Given the description of an element on the screen output the (x, y) to click on. 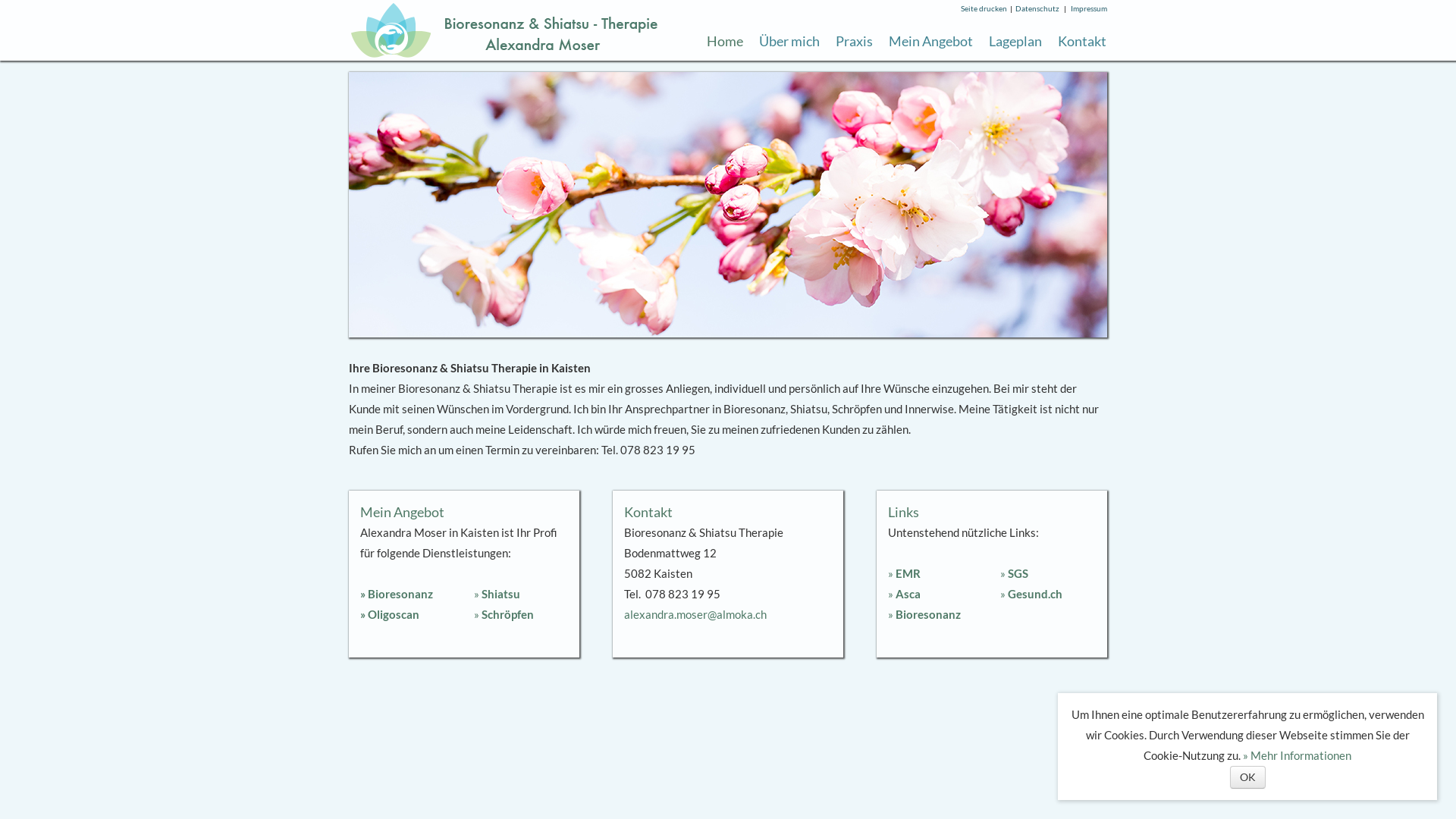
Asca Element type: text (906, 593)
Home Element type: text (724, 40)
Impressum Element type: text (1088, 7)
OK Element type: text (1247, 776)
Lageplan Element type: text (1014, 40)
EMR Element type: text (906, 573)
Praxis Element type: text (853, 40)
Kontakt Element type: text (1081, 40)
Seite drucken Element type: text (983, 7)
Datenschutz Element type: text (1037, 7)
alexandra.moser@almoka.ch Element type: text (695, 614)
Mein Angebot Element type: text (930, 40)
